Given the description of an element on the screen output the (x, y) to click on. 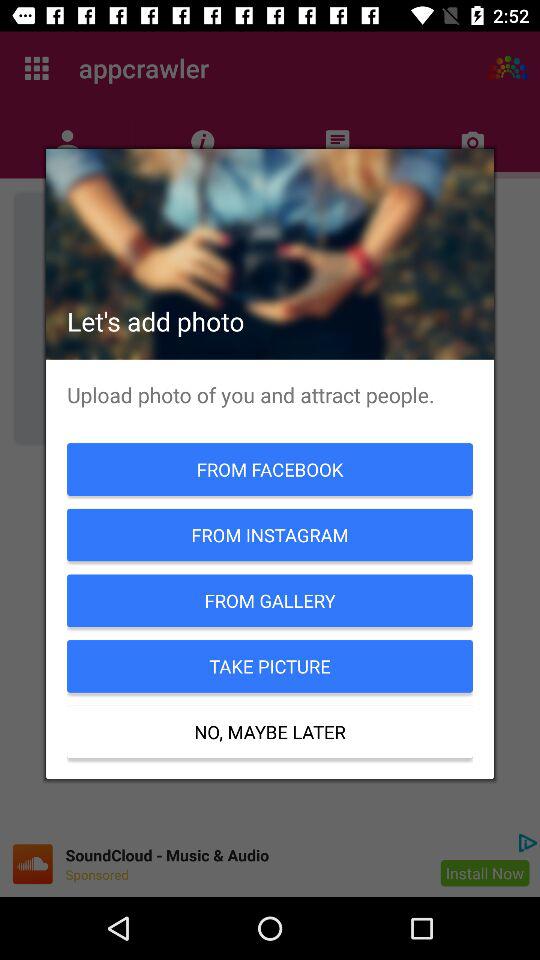
tap icon above take picture (269, 600)
